Given the description of an element on the screen output the (x, y) to click on. 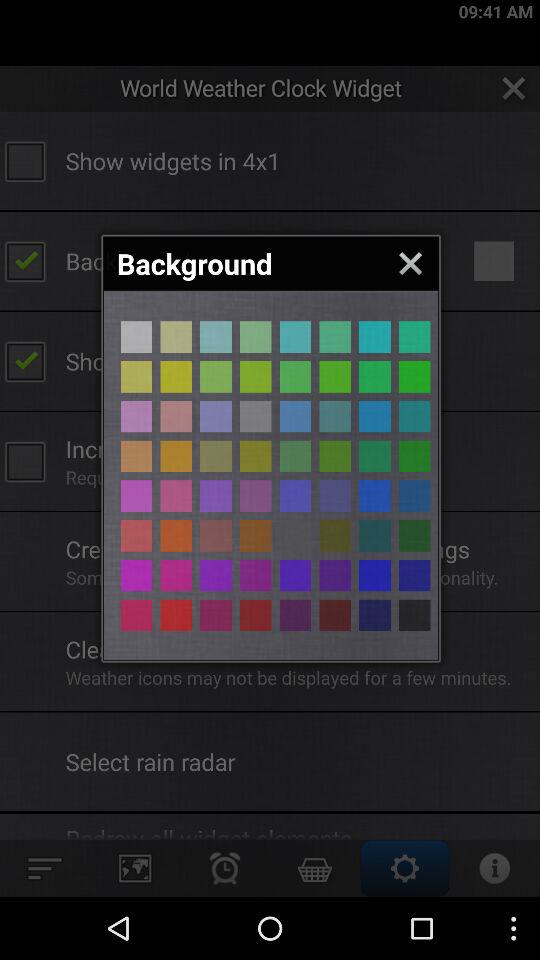
background color (374, 456)
